Given the description of an element on the screen output the (x, y) to click on. 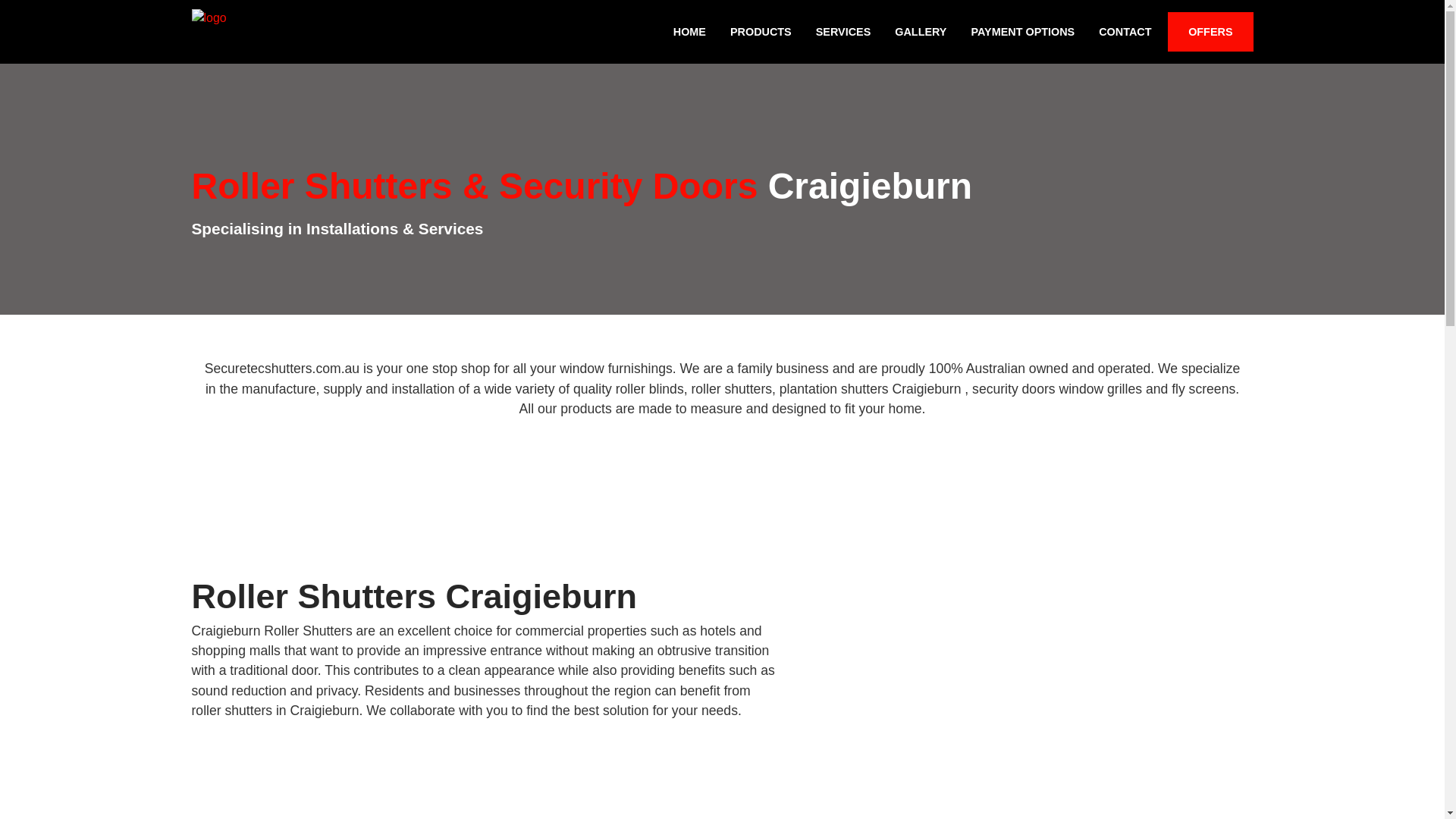
CONTACT (1124, 31)
GALLERY (920, 31)
SERVICES (843, 31)
PAYMENT OPTIONS (1022, 31)
OFFERS (1209, 31)
HOME (689, 31)
PRODUCTS (761, 31)
